Given the description of an element on the screen output the (x, y) to click on. 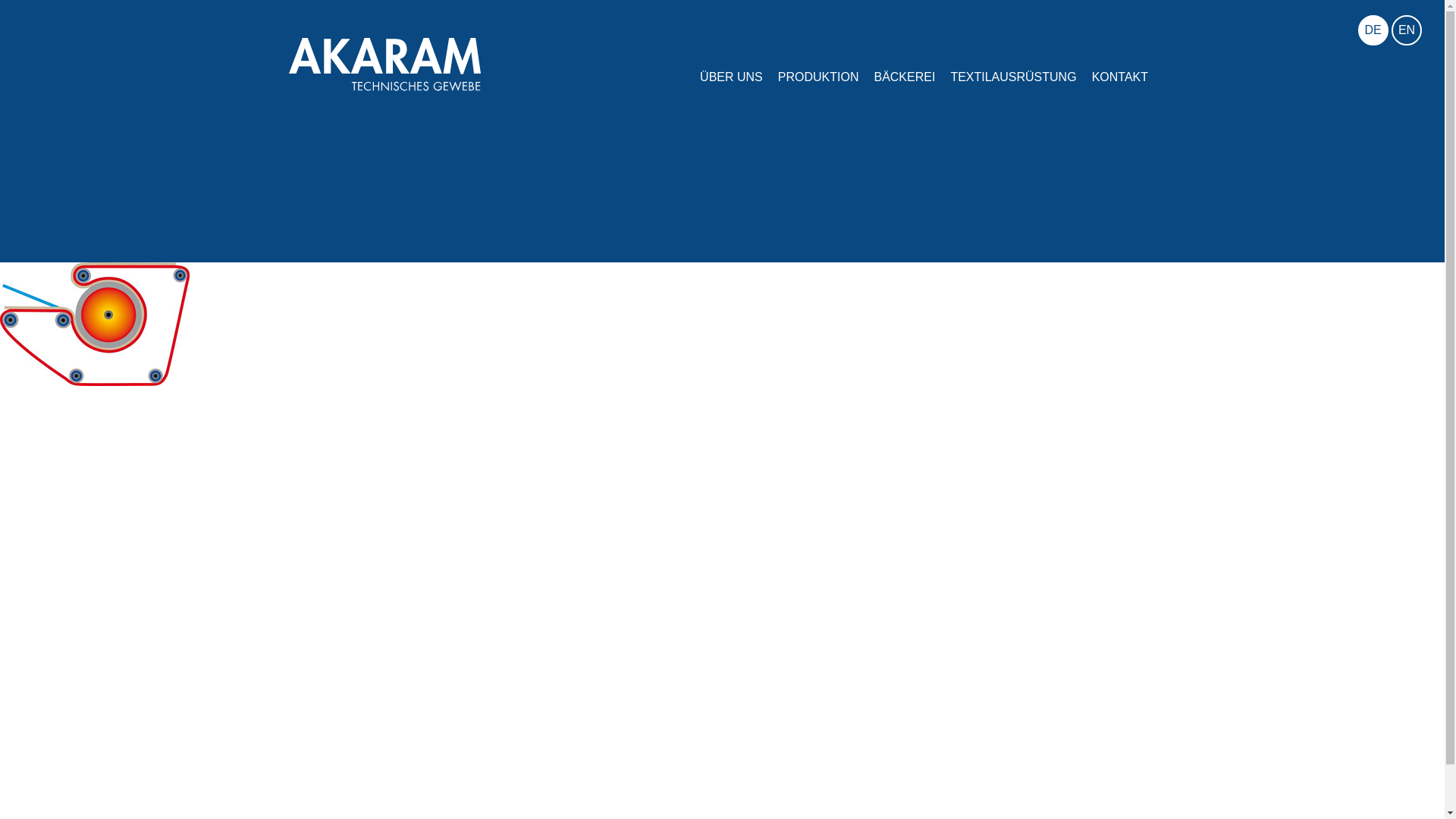
EN Element type: text (1406, 30)
PRODUKTION Element type: text (818, 45)
DE Element type: text (1373, 30)
KONTAKT Element type: text (1119, 45)
